Given the description of an element on the screen output the (x, y) to click on. 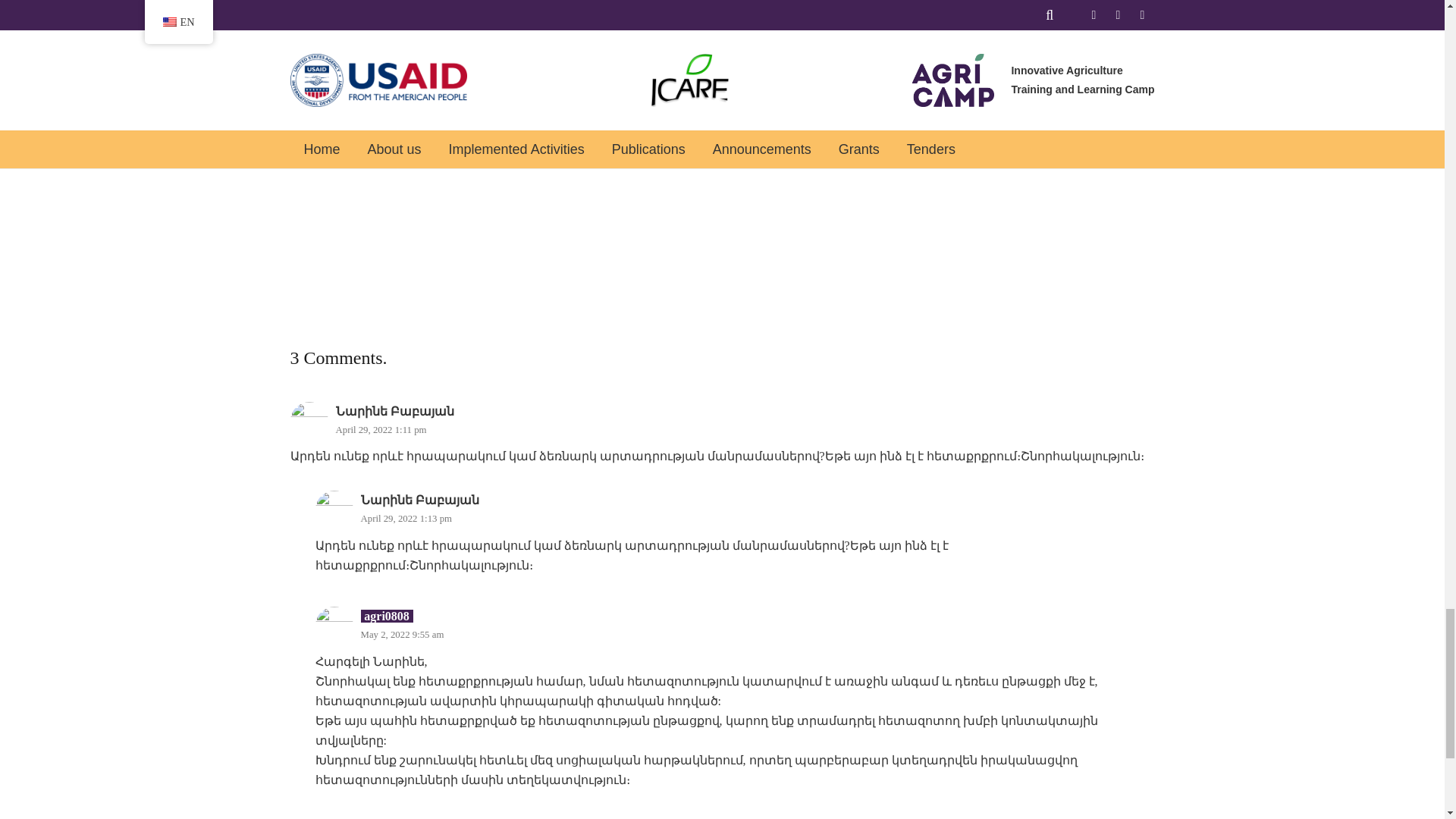
April 29, 2022 1:11 pm (380, 429)
May 2, 2022 9:55 am (402, 634)
April 29, 2022 1:13 pm (406, 518)
